Given the description of an element on the screen output the (x, y) to click on. 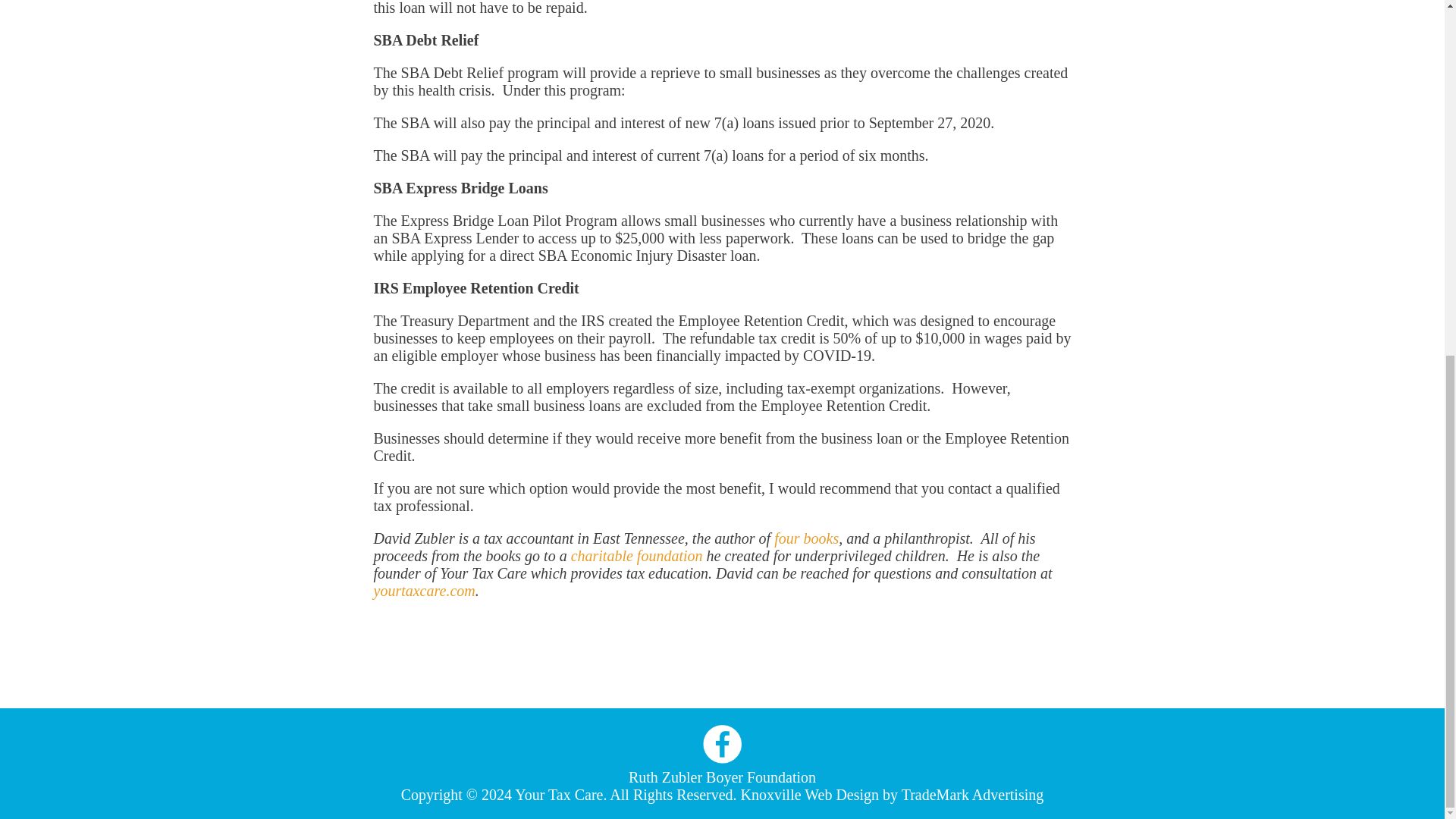
four books (806, 538)
yourtaxcare.com (423, 590)
Ruth Zubler Boyer Foundation (721, 777)
Knoxville Web Design by TradeMark Advertising (892, 794)
charitable foundation (636, 555)
